Given the description of an element on the screen output the (x, y) to click on. 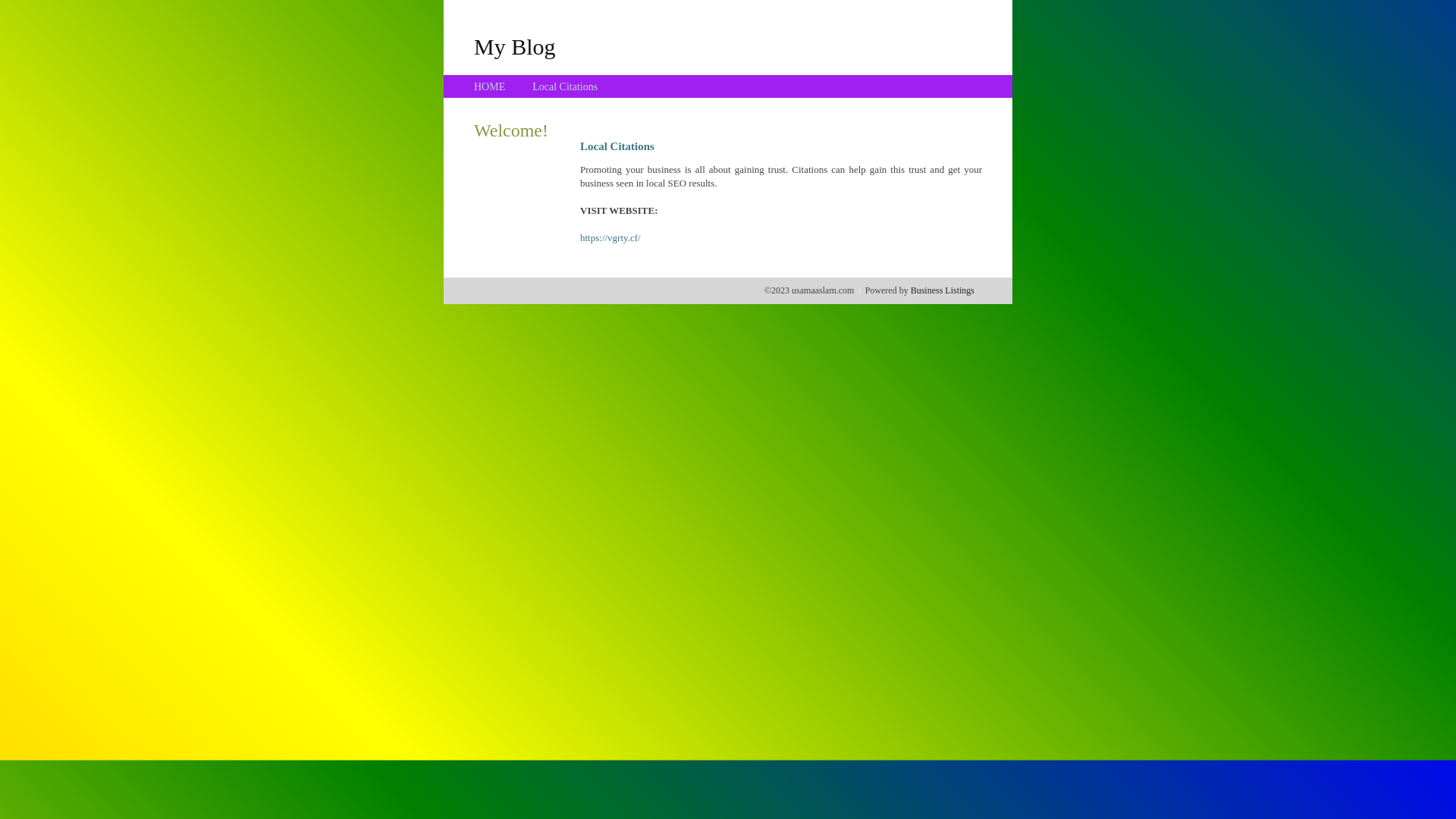
https://vgrty.cf/ Element type: text (610, 237)
Local Citations Element type: text (564, 86)
My Blog Element type: text (514, 46)
Business Listings Element type: text (942, 290)
HOME Element type: text (489, 86)
